Given the description of an element on the screen output the (x, y) to click on. 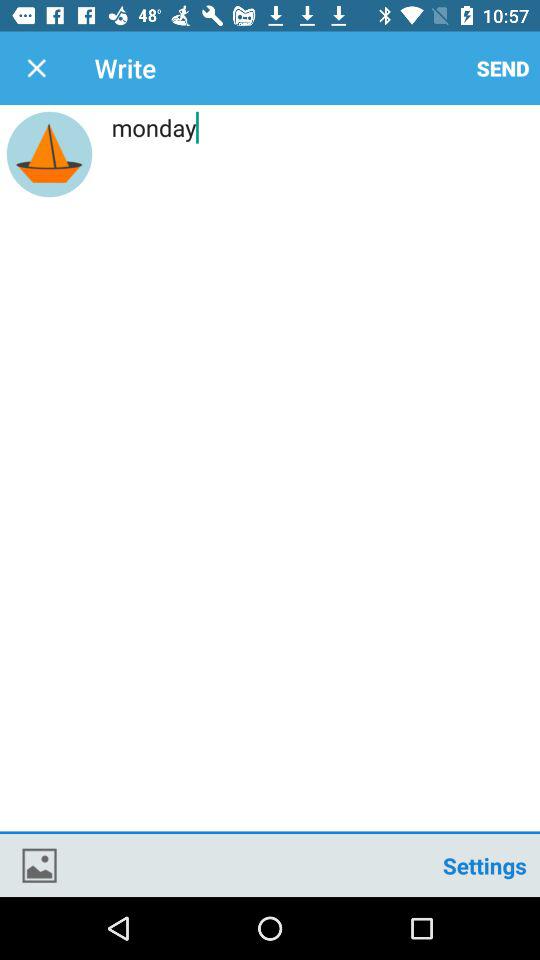
scroll to settings (484, 864)
